Given the description of an element on the screen output the (x, y) to click on. 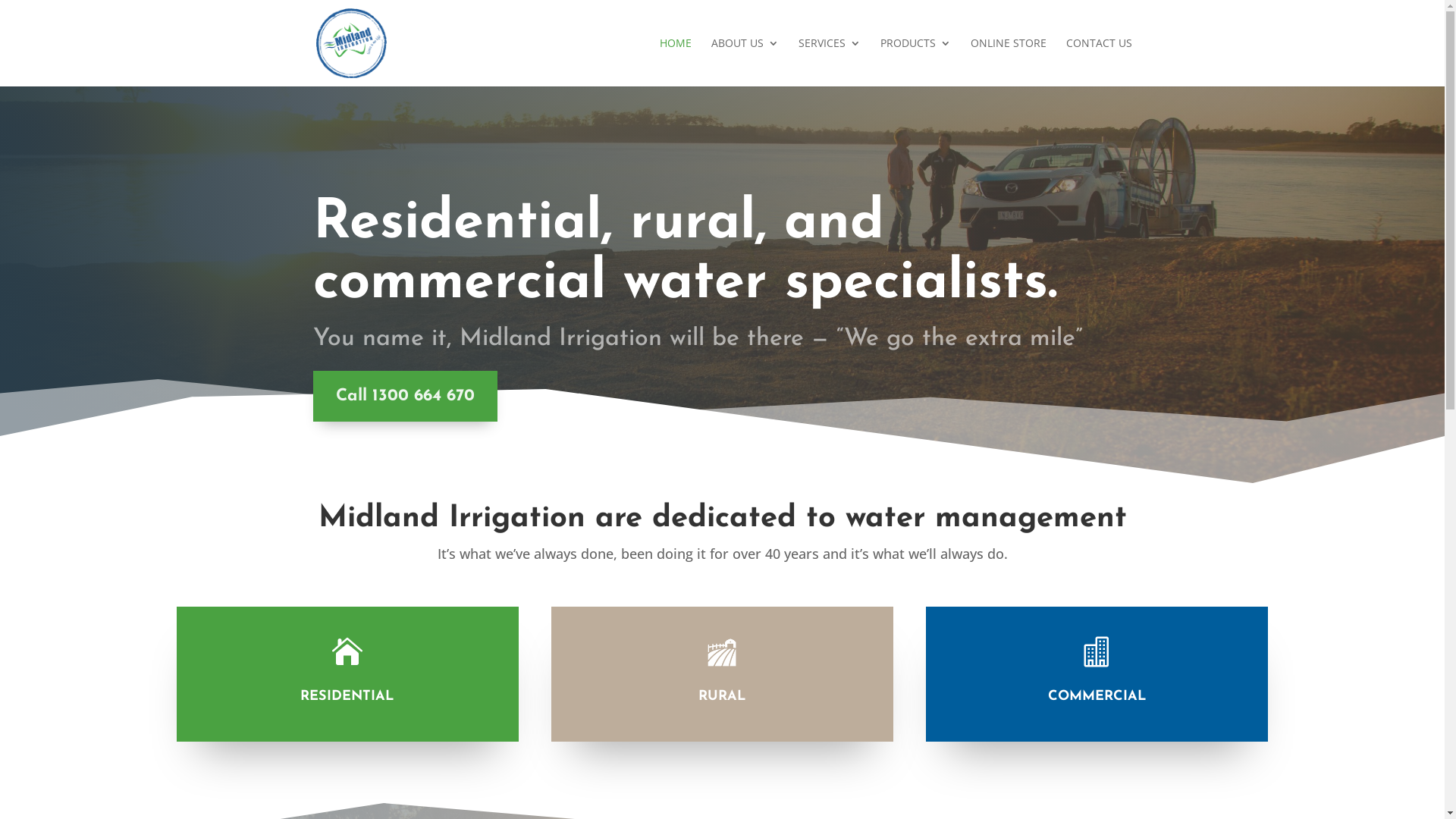
HOME Element type: text (675, 61)
Call 1300 664 670 Element type: text (404, 395)
CONTACT US Element type: text (1099, 61)
ONLINE STORE Element type: text (1008, 61)
ABOUT US Element type: text (744, 61)
PRODUCTS Element type: text (914, 61)
SERVICES Element type: text (828, 61)
